Given the description of an element on the screen output the (x, y) to click on. 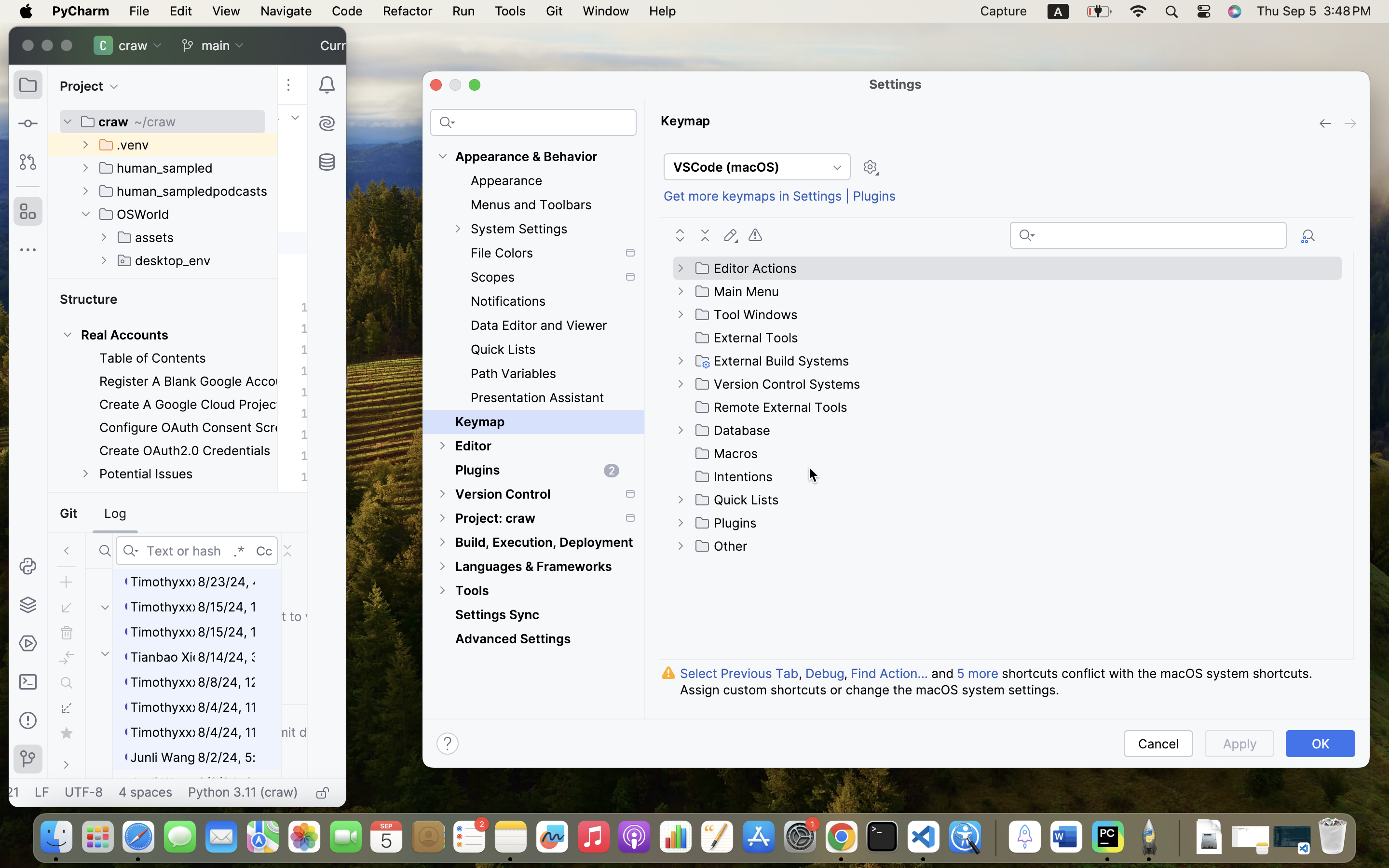
Settings Element type: AXStaticText (895, 83)
VSCode (macOS) Element type: AXPopUpButton (756, 166)
